Given the description of an element on the screen output the (x, y) to click on. 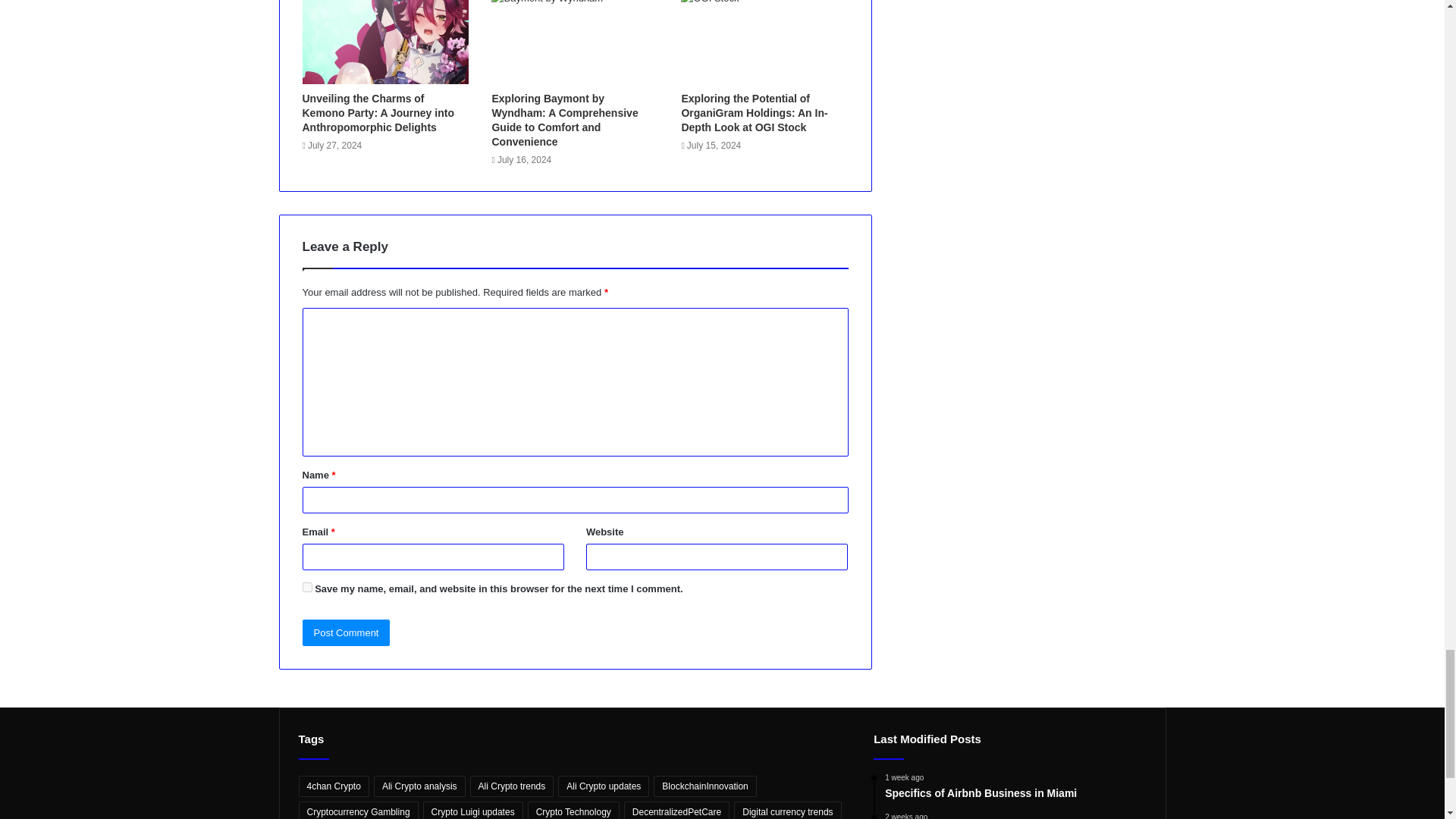
Post Comment (345, 632)
yes (306, 587)
